Given the description of an element on the screen output the (x, y) to click on. 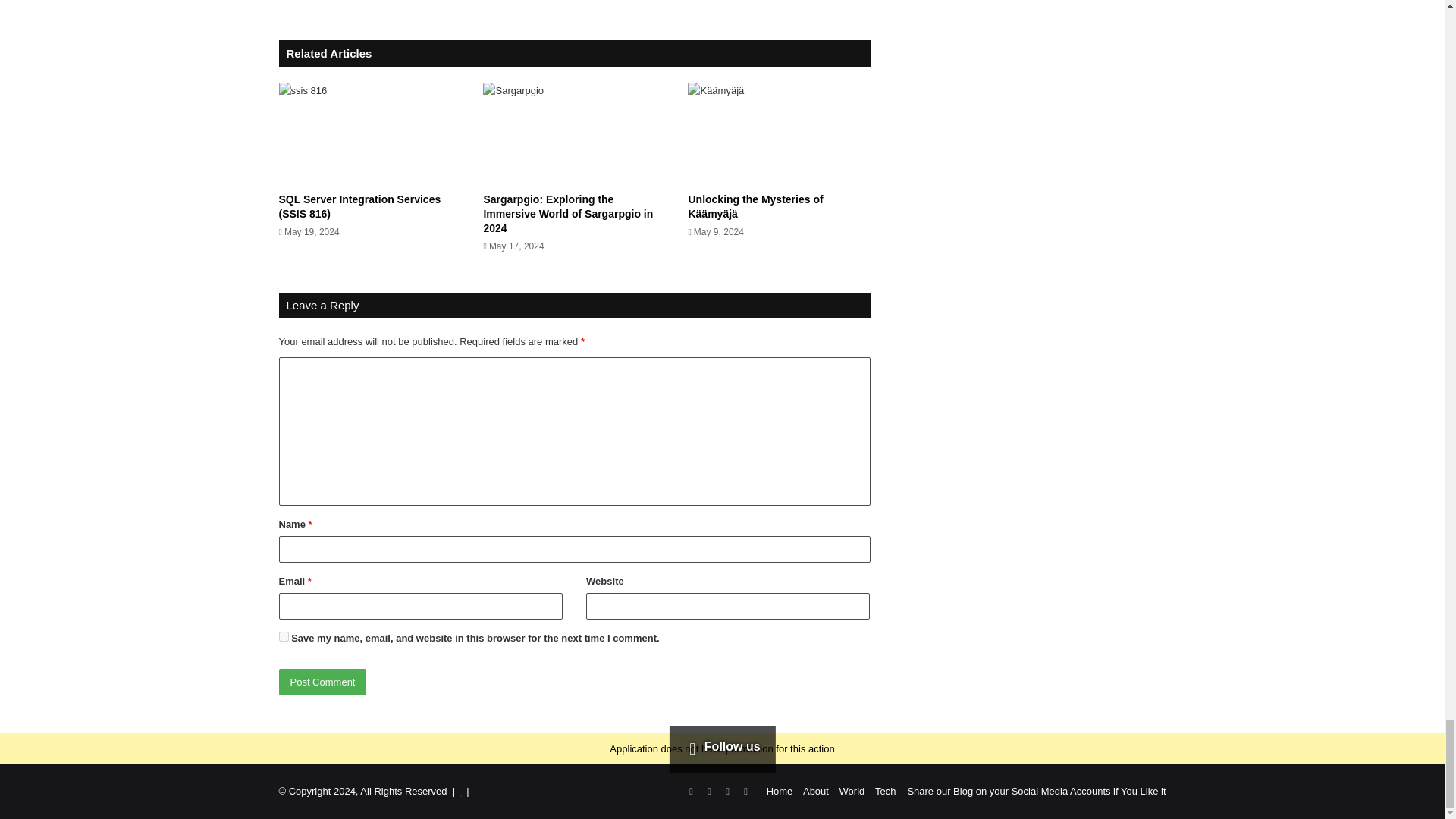
yes (283, 636)
Post Comment (322, 682)
